Given the description of an element on the screen output the (x, y) to click on. 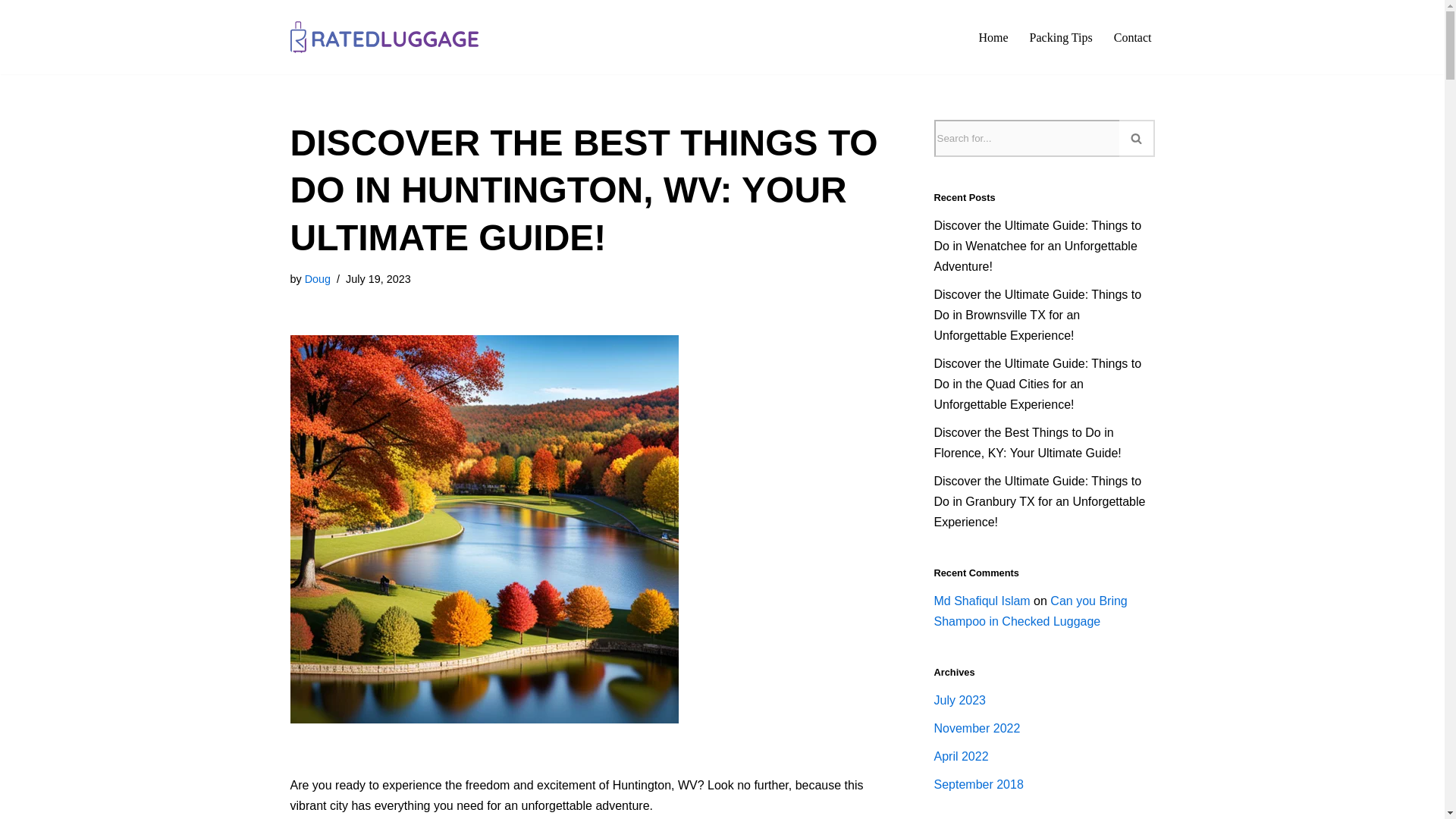
November 2022 (977, 727)
Posts by Doug (317, 278)
Packing Tips (1061, 37)
September 2018 (978, 784)
Home (992, 37)
Md Shafiqul Islam (982, 600)
